Given the description of an element on the screen output the (x, y) to click on. 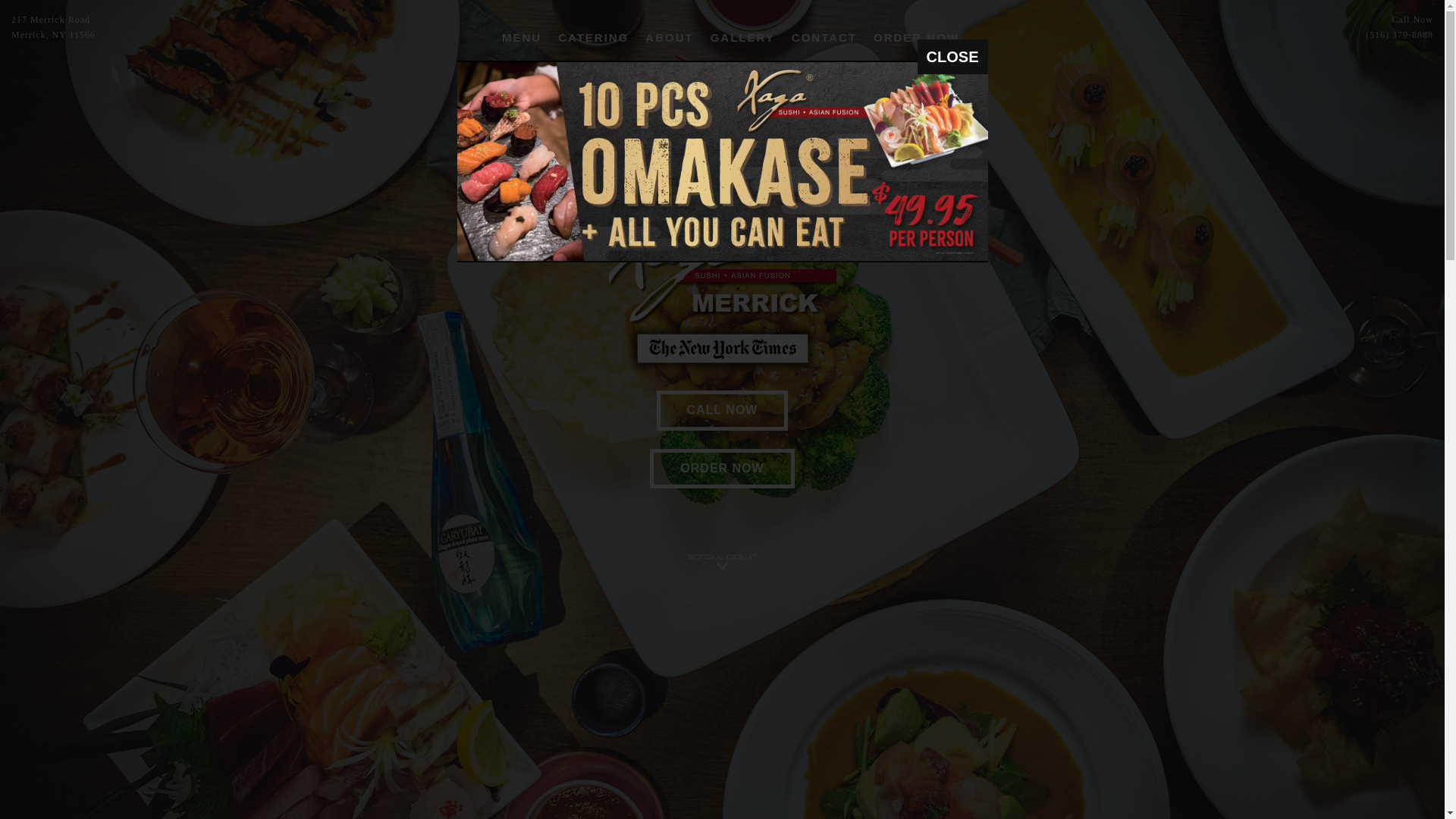
ORDER NOW (916, 37)
ABOUT (669, 37)
  CALL NOW   (722, 409)
  ORDER NOW   (721, 468)
GALLERY (742, 37)
CATERING (592, 37)
CONTACT (824, 37)
